Given the description of an element on the screen output the (x, y) to click on. 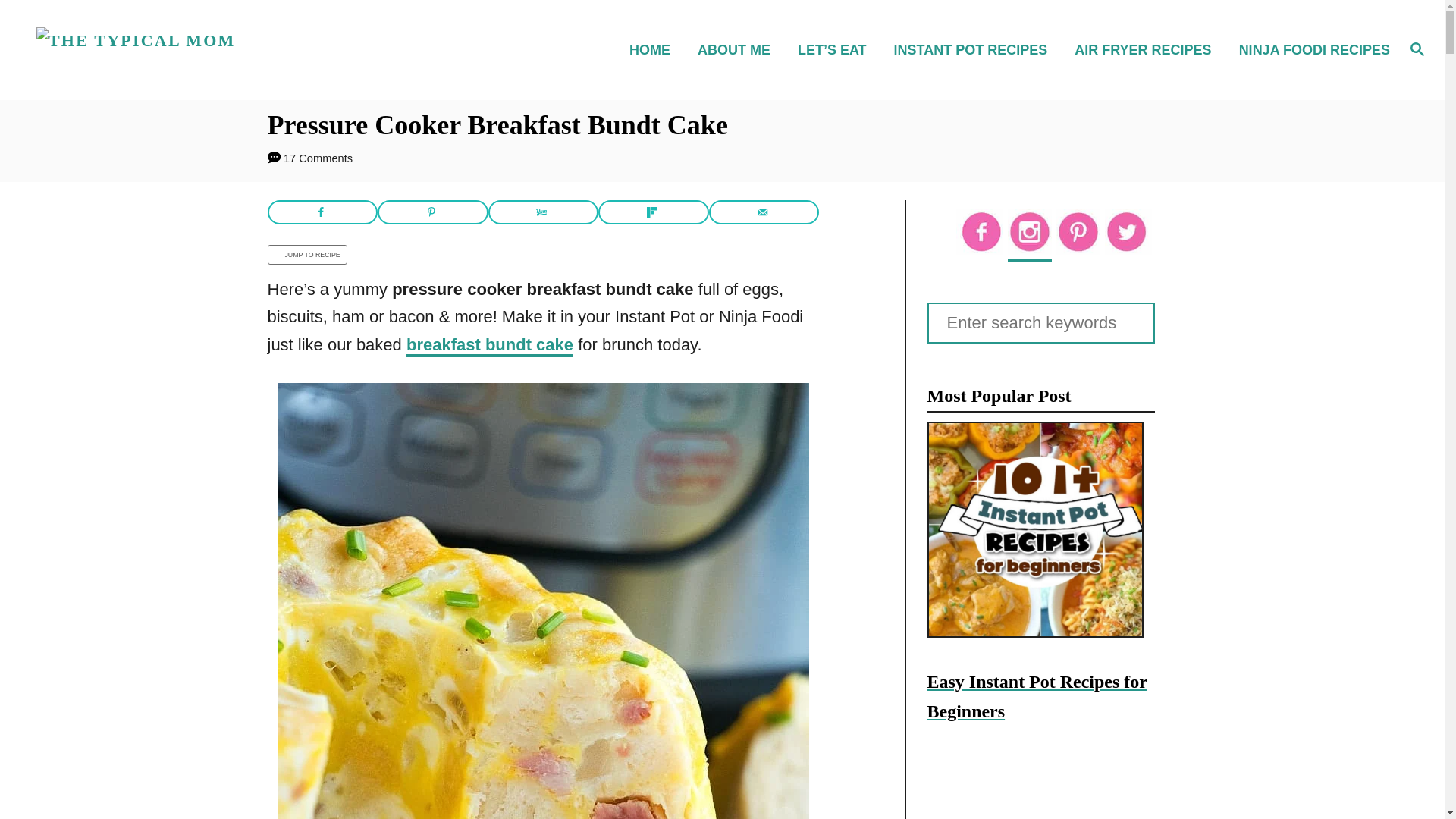
Share on Facebook (321, 211)
ABOUT ME (738, 49)
Share on Yummly (542, 211)
Send over email (764, 211)
Share on Flipboard (653, 211)
Magnifying Glass (1416, 48)
The Typical Mom (204, 49)
Save to Pinterest (432, 211)
HOME (654, 49)
